Given the description of an element on the screen output the (x, y) to click on. 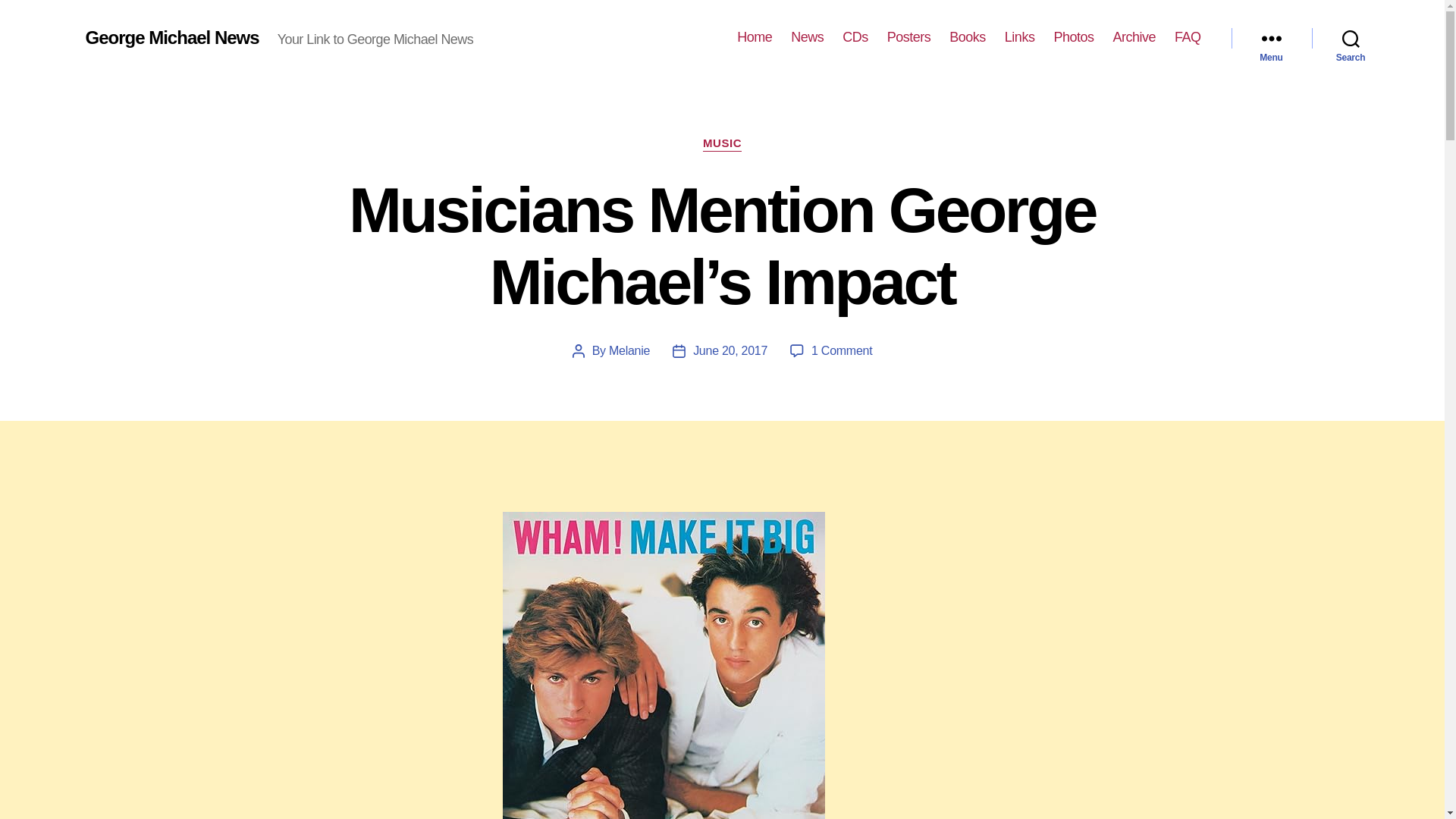
Posters (908, 37)
Search (1350, 37)
FAQ (1187, 37)
CDs (855, 37)
Menu (1271, 37)
Photos (1072, 37)
Books (967, 37)
George Michael News (171, 37)
Home (753, 37)
News (807, 37)
